Given the description of an element on the screen output the (x, y) to click on. 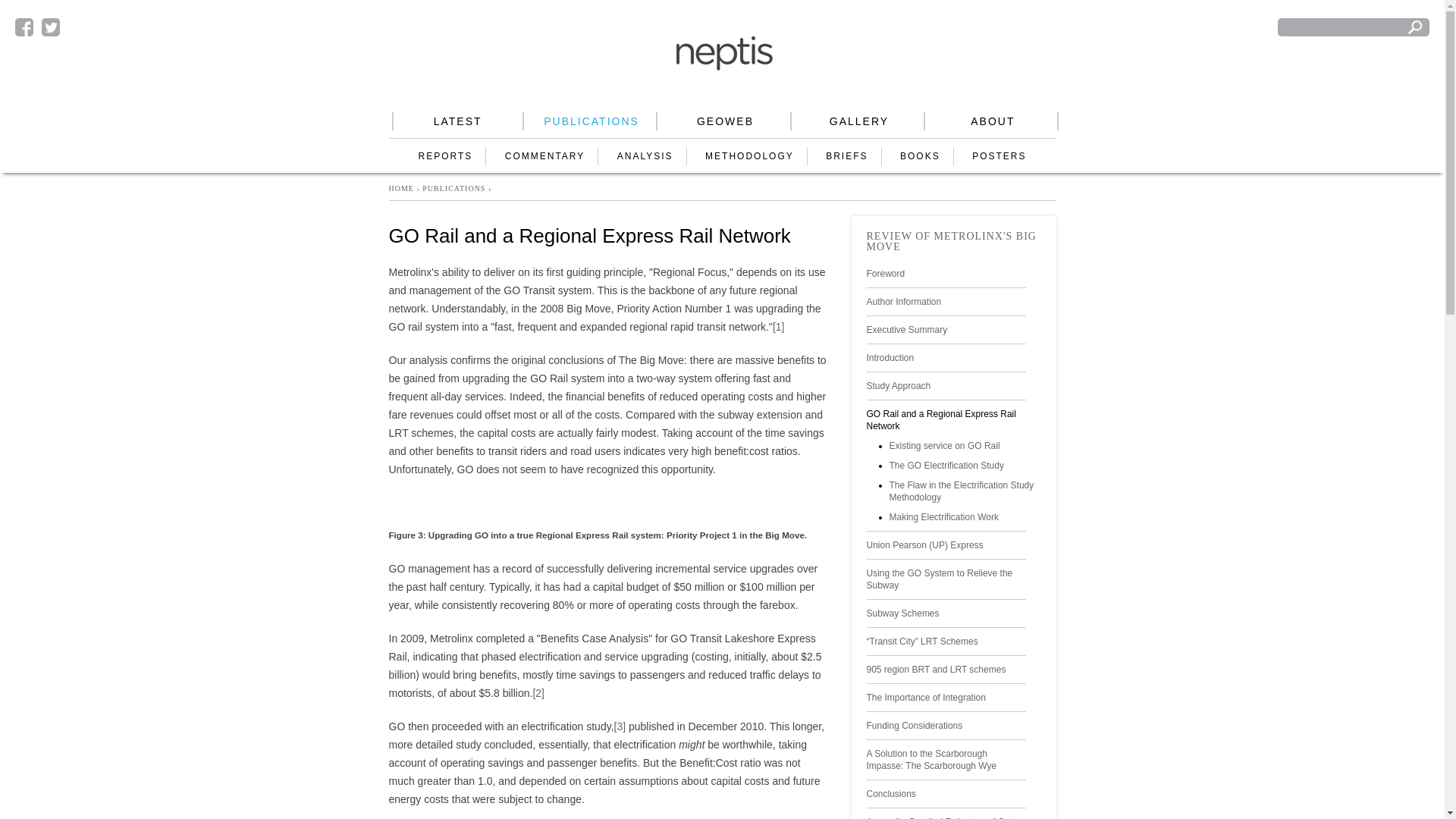
GALLERY (858, 121)
Twitter (50, 27)
ANALYSIS (644, 155)
PUBLICATIONS (591, 121)
GEOWEB (725, 121)
BOOKS (919, 155)
Facebook (23, 27)
POSTERS (999, 155)
LATEST (457, 121)
METHODOLOGY (748, 155)
REPORTS (446, 155)
HOME (400, 188)
Home (725, 53)
Pinterest (76, 27)
PUBLICATIONS (453, 188)
